Given the description of an element on the screen output the (x, y) to click on. 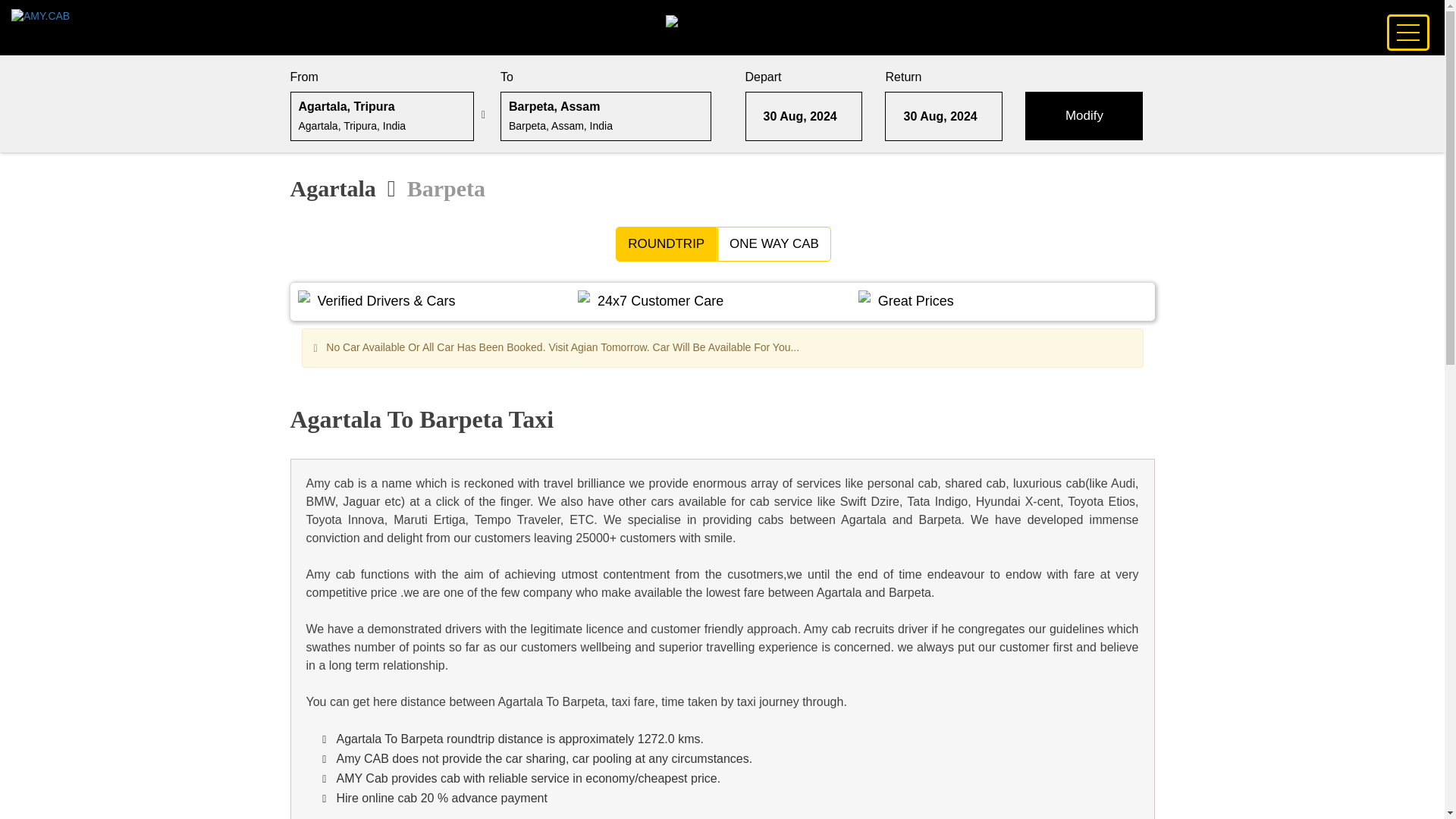
ROUNDTRIP (665, 243)
ONE WAY CAB (774, 243)
Modify (1083, 115)
